Given the description of an element on the screen output the (x, y) to click on. 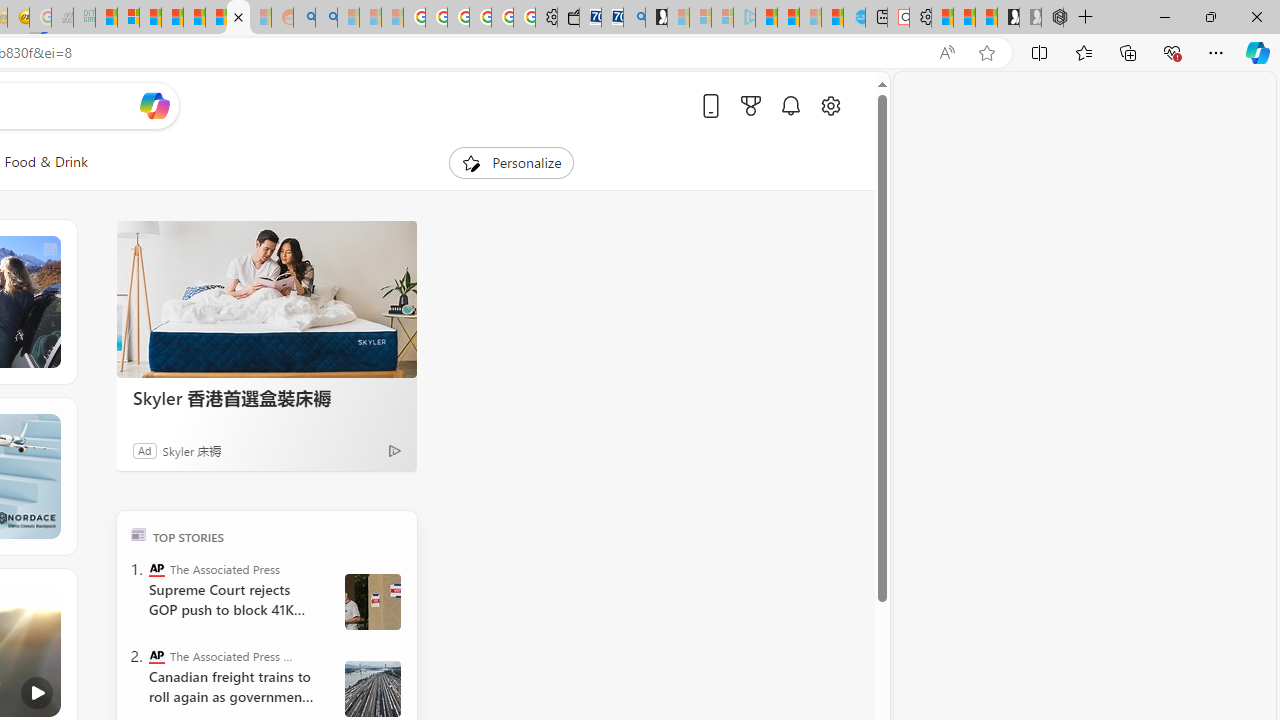
Kinda Frugal - MSN (216, 17)
Student Loan Update: Forgiveness Program Ends This Month (172, 17)
TOP (138, 534)
 Canada Railroads Unions (372, 688)
